Given the description of an element on the screen output the (x, y) to click on. 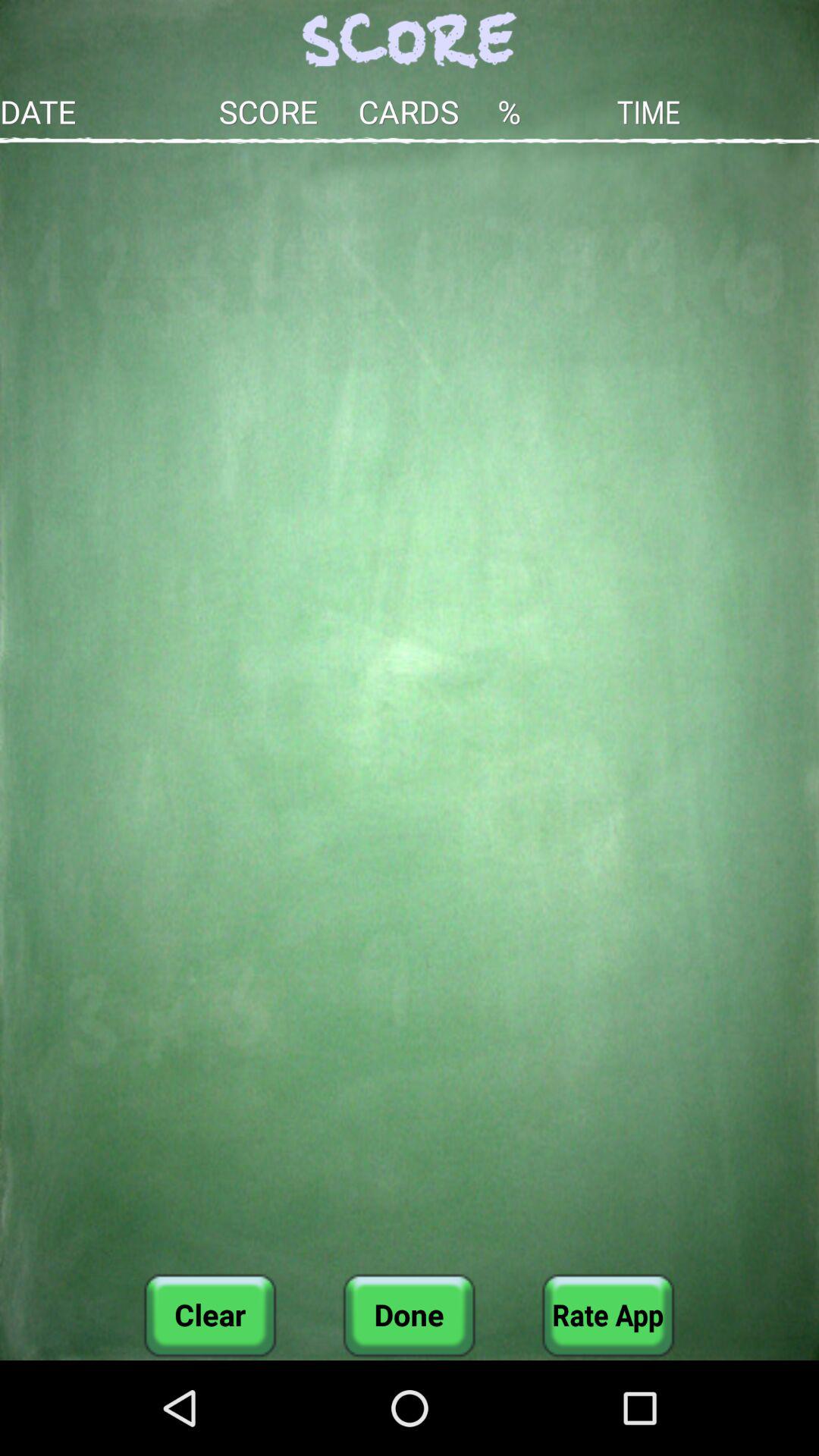
turn off the clear at the bottom left corner (209, 1315)
